Given the description of an element on the screen output the (x, y) to click on. 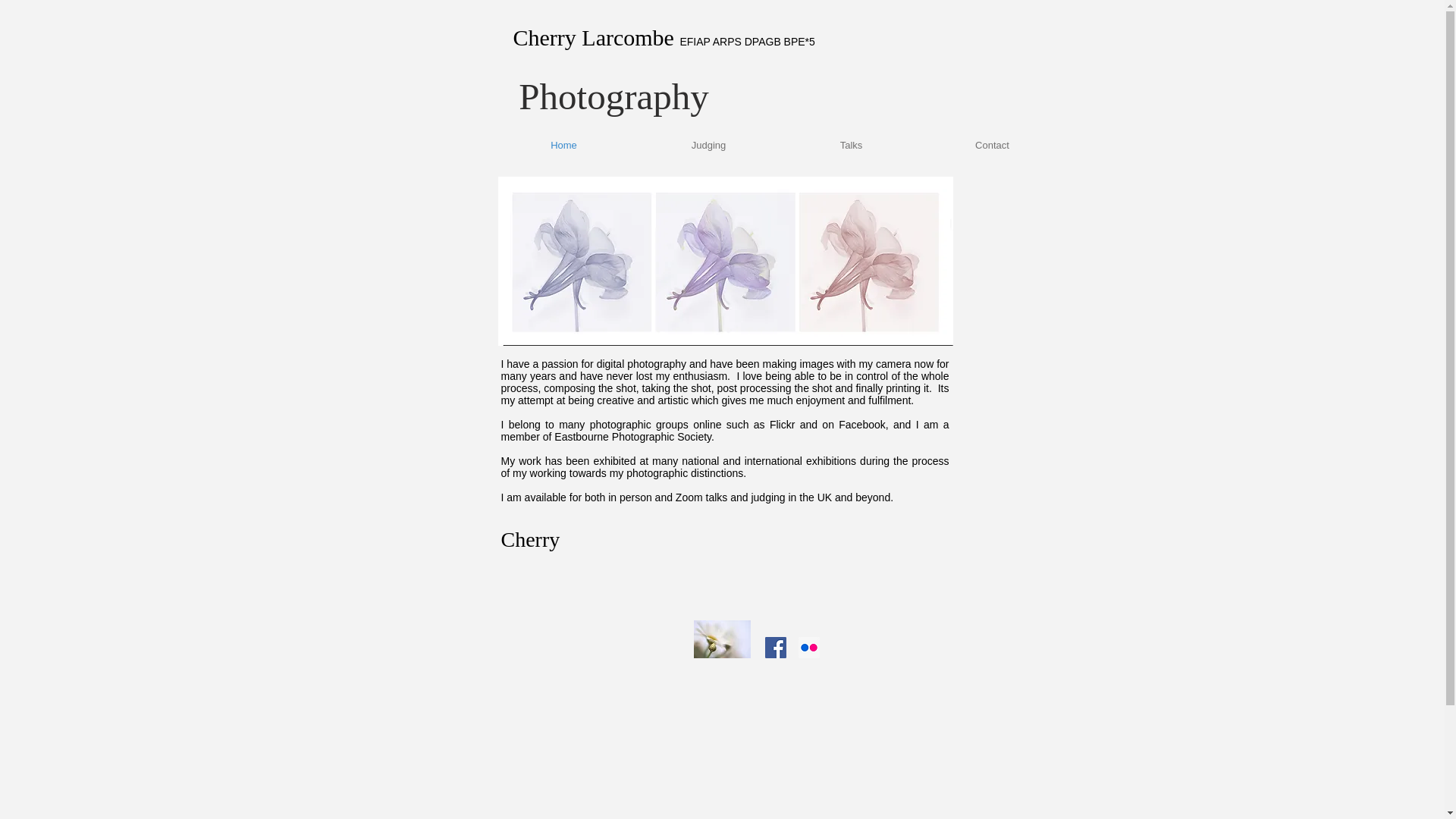
Contact (991, 145)
Cherry Larcombe  (595, 37)
Judging (708, 145)
Talks (851, 145)
Cherry Larcombe  (626, 138)
Home (564, 145)
